Given the description of an element on the screen output the (x, y) to click on. 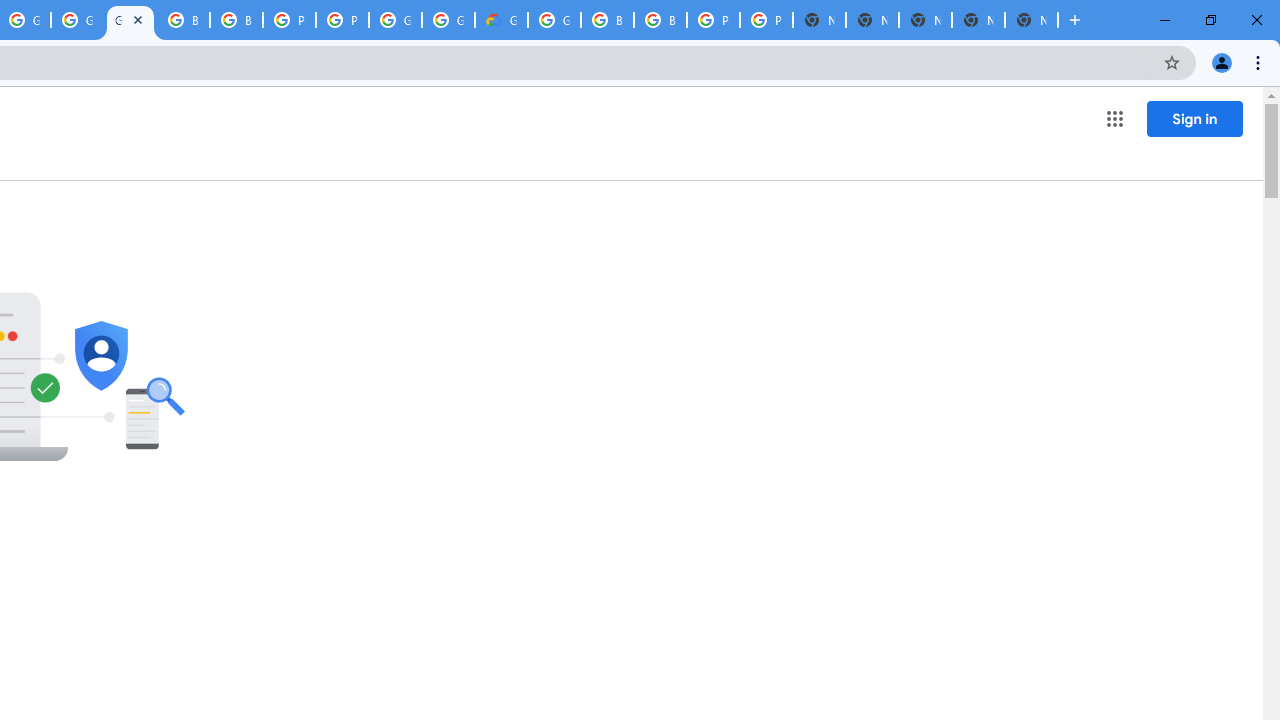
Google Cloud Estimate Summary (501, 20)
New Tab (1031, 20)
Browse Chrome as a guest - Computer - Google Chrome Help (183, 20)
